Given the description of an element on the screen output the (x, y) to click on. 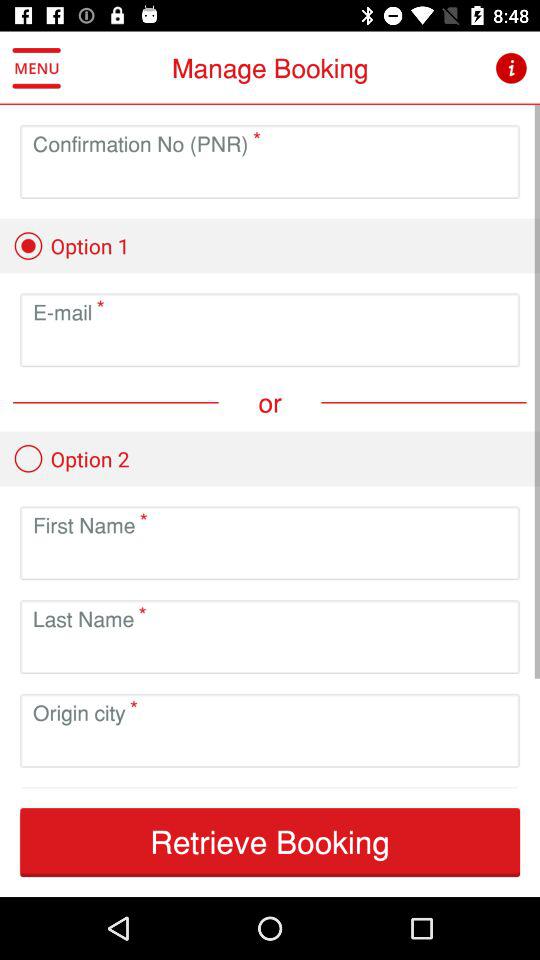
enter the first name (270, 558)
